Given the description of an element on the screen output the (x, y) to click on. 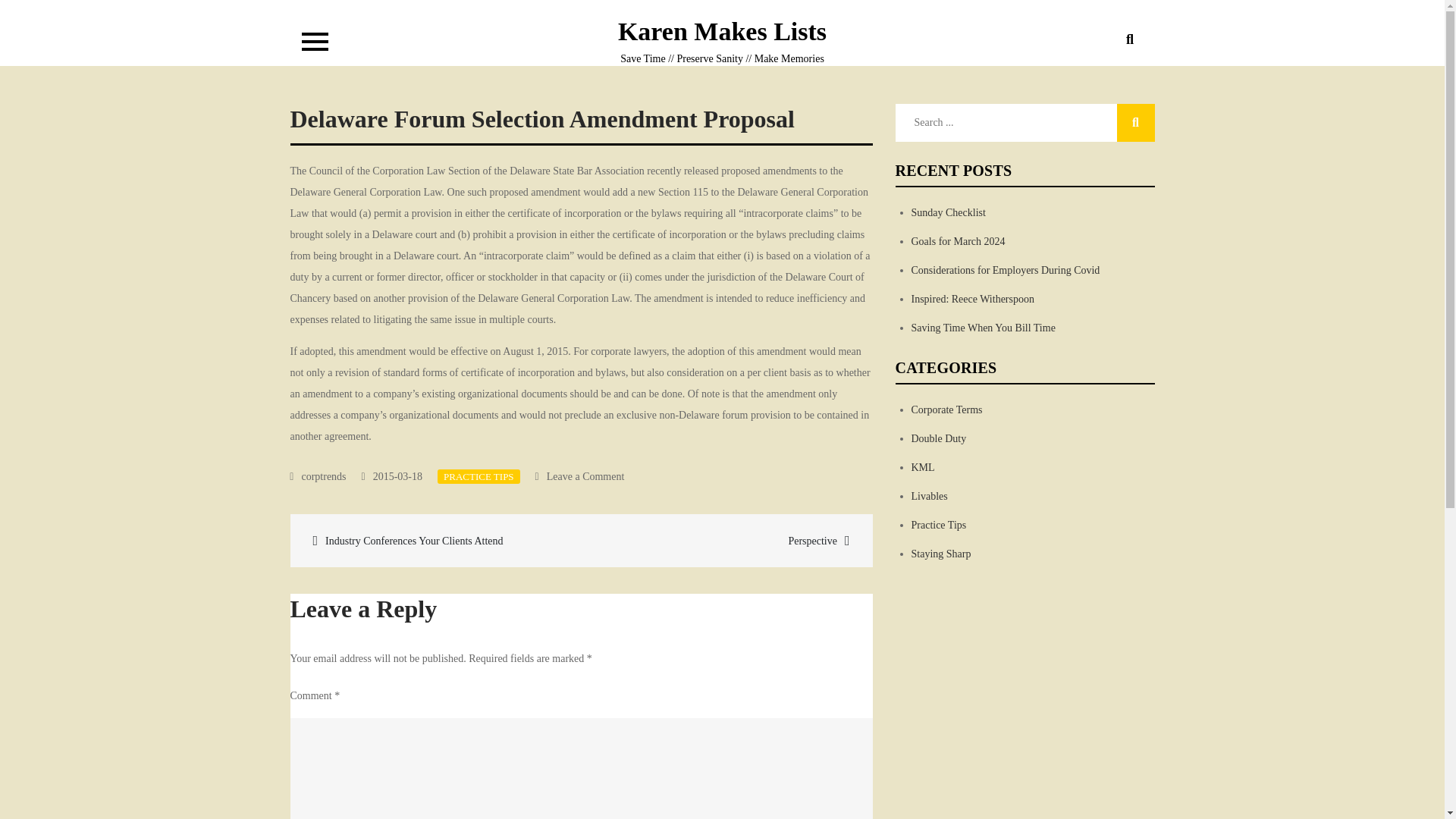
Staying Sharp (941, 553)
Industry Conferences Your Clients Attend (437, 540)
KML (922, 467)
corptrends (317, 476)
Search for: (1024, 122)
Search (1135, 122)
PRACTICE TIPS (478, 476)
Saving Time When You Bill Time (983, 327)
Double Duty (938, 438)
